Given the description of an element on the screen output the (x, y) to click on. 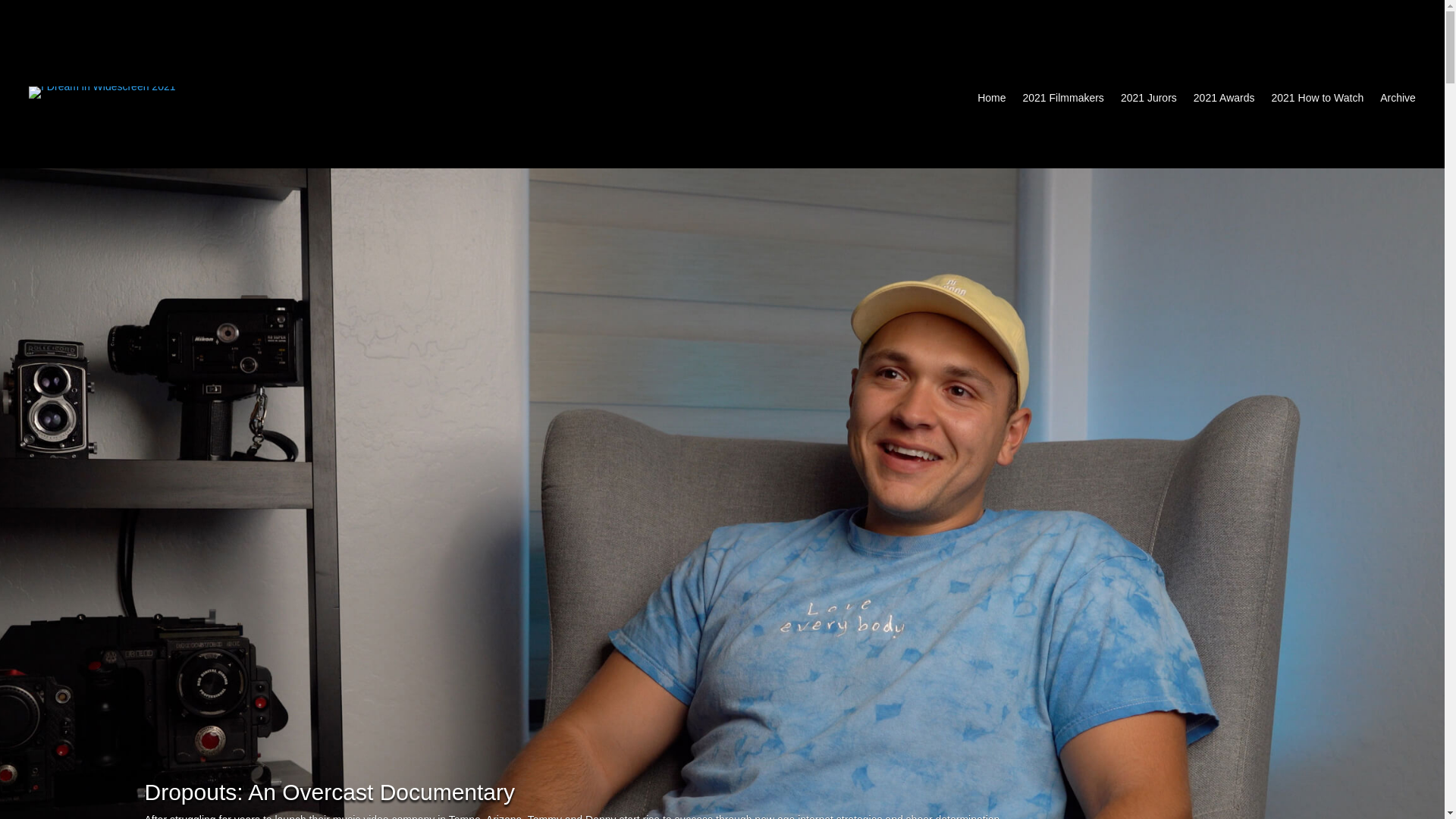
IDIW2021-LogoNoMarquee (101, 92)
Home (991, 100)
2021 Awards (1224, 100)
2021 How to Watch (1317, 100)
2021 Filmmakers (1062, 100)
Archive (1397, 100)
2021 Jurors (1148, 100)
